Given the description of an element on the screen output the (x, y) to click on. 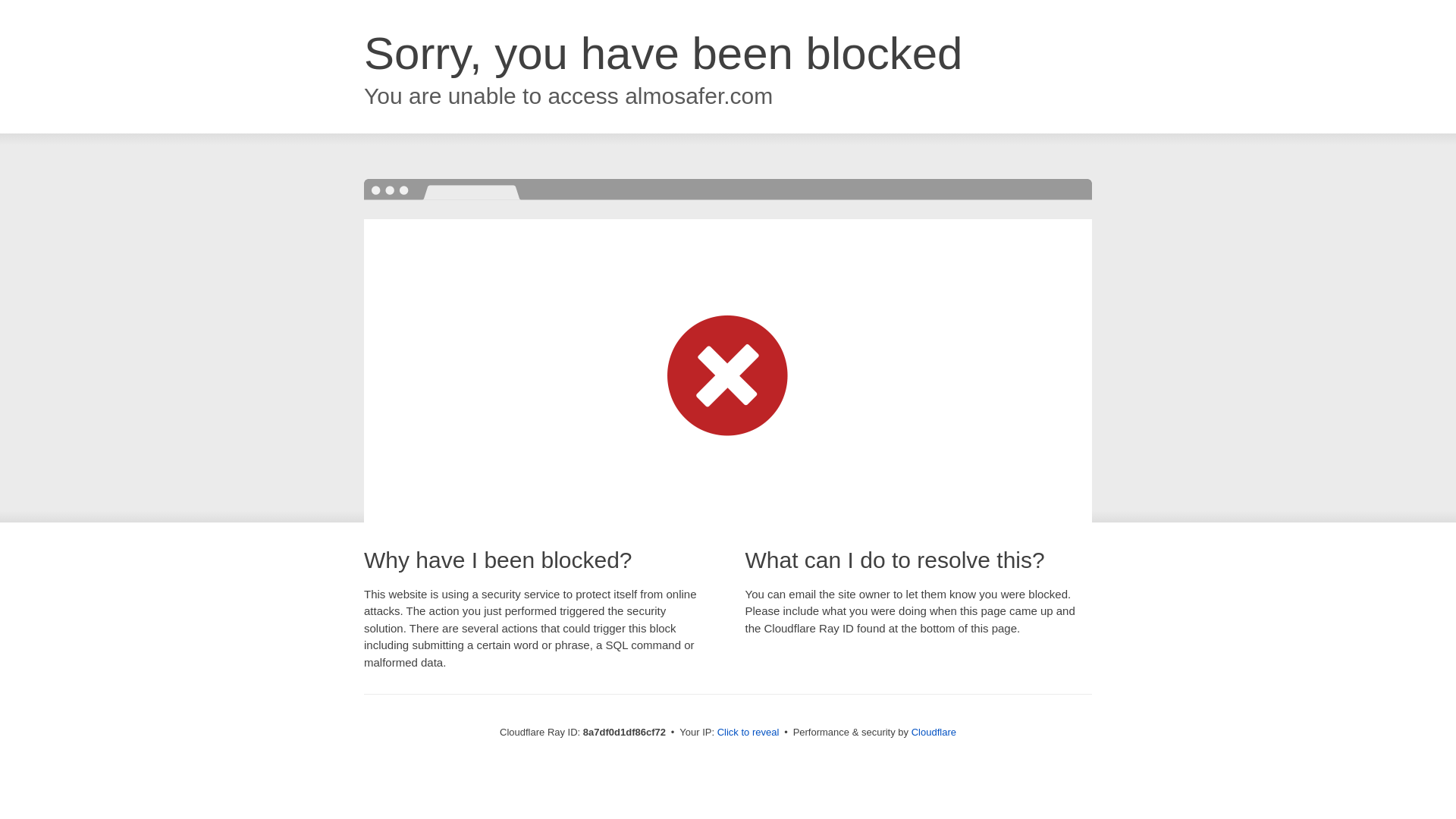
Click to reveal (747, 732)
Cloudflare (933, 731)
